Given the description of an element on the screen output the (x, y) to click on. 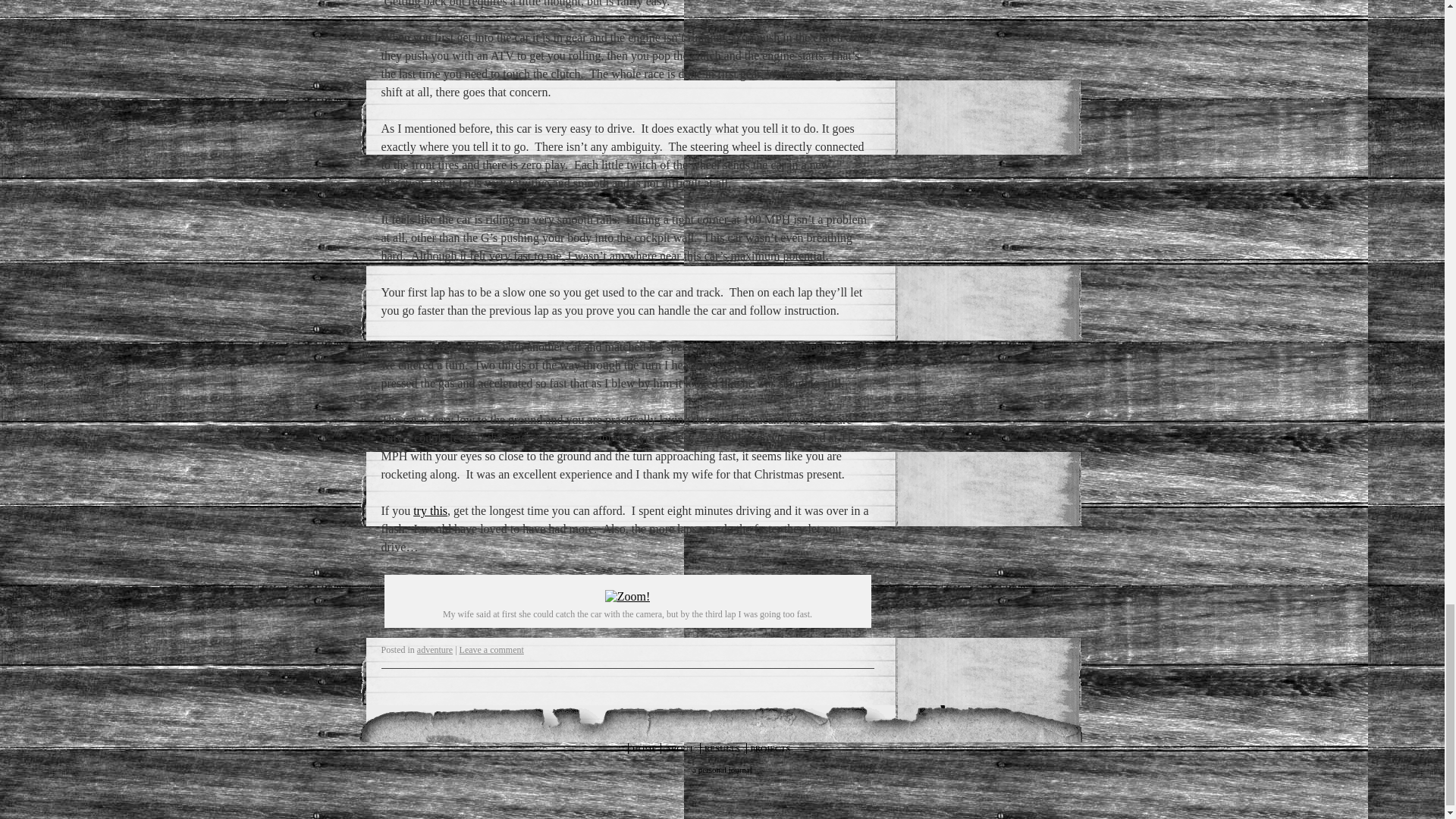
adventure (434, 649)
Leave a comment (492, 649)
try this (429, 510)
Zoom! (627, 596)
Mario Andretti Racing Experience web site (429, 510)
